Given the description of an element on the screen output the (x, y) to click on. 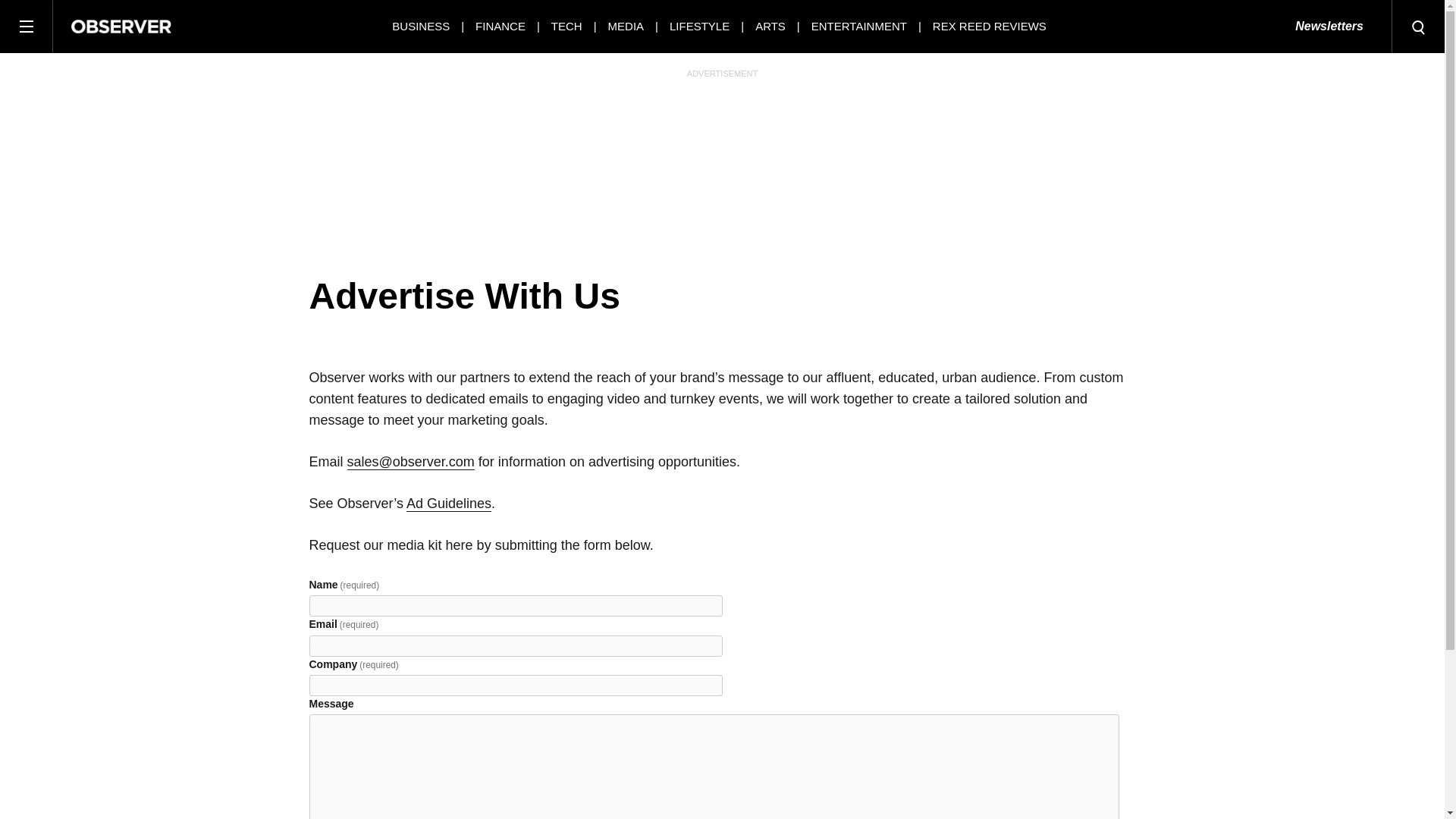
MEDIA (626, 25)
FINANCE (500, 25)
ENTERTAINMENT (858, 25)
REX REED REVIEWS (989, 25)
TECH (566, 25)
Observer (121, 26)
ARTS (770, 25)
3rd party ad content (721, 170)
LIFESTYLE (699, 25)
BUSINESS (420, 25)
Newsletters (1329, 26)
